Given the description of an element on the screen output the (x, y) to click on. 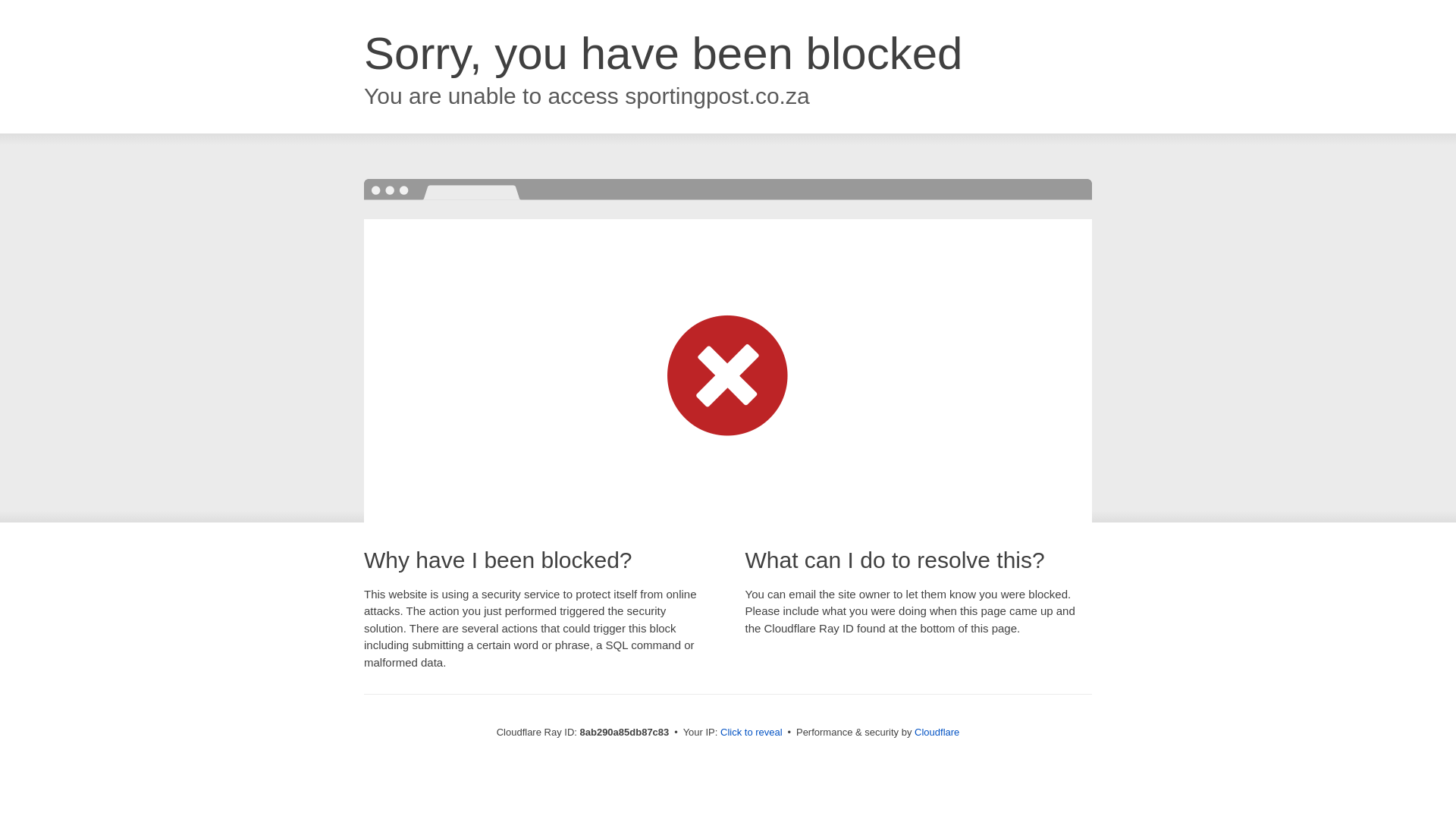
Click to reveal (751, 732)
Cloudflare (936, 731)
